Given the description of an element on the screen output the (x, y) to click on. 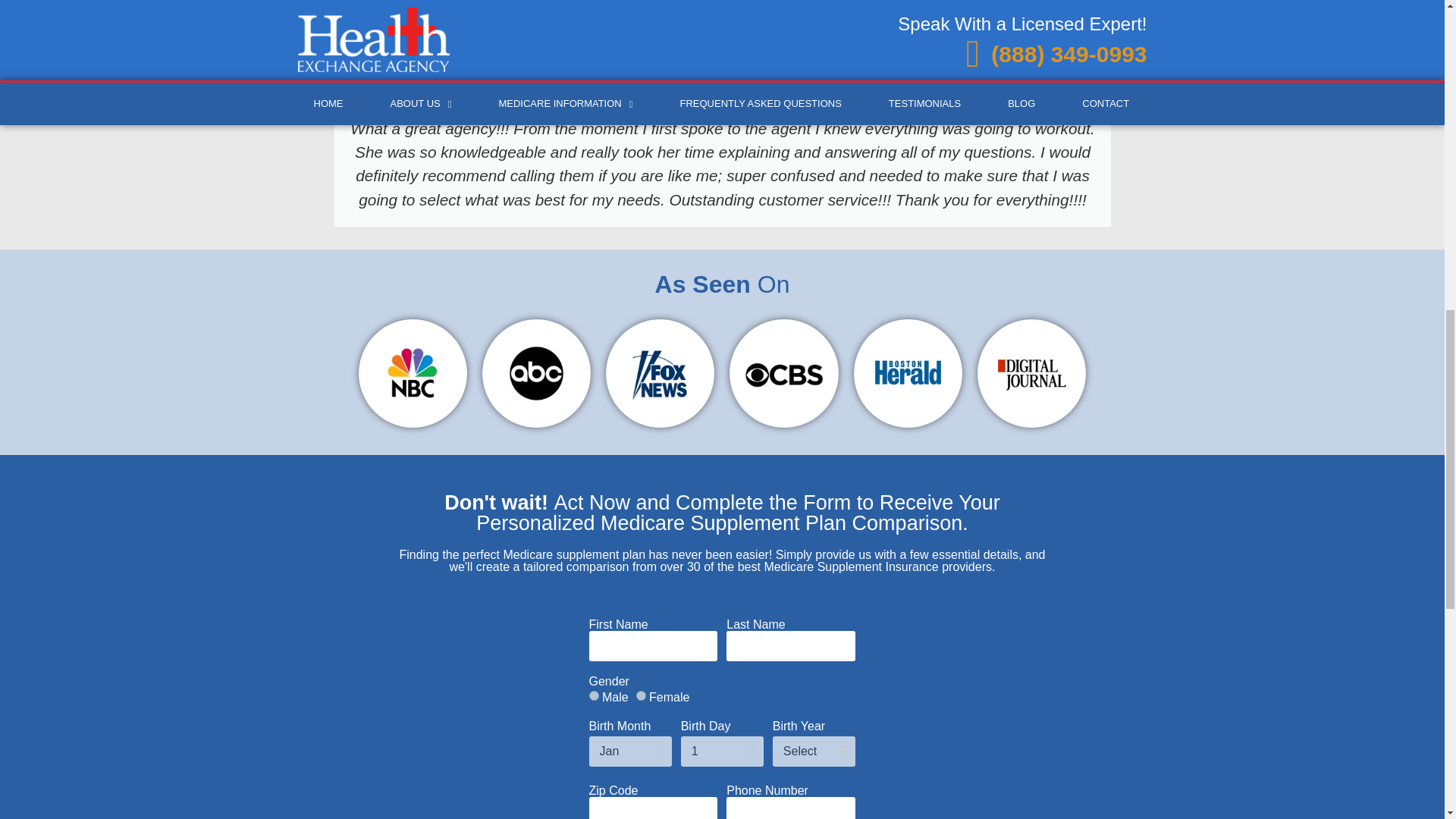
Female (641, 696)
Male (593, 696)
